Given the description of an element on the screen output the (x, y) to click on. 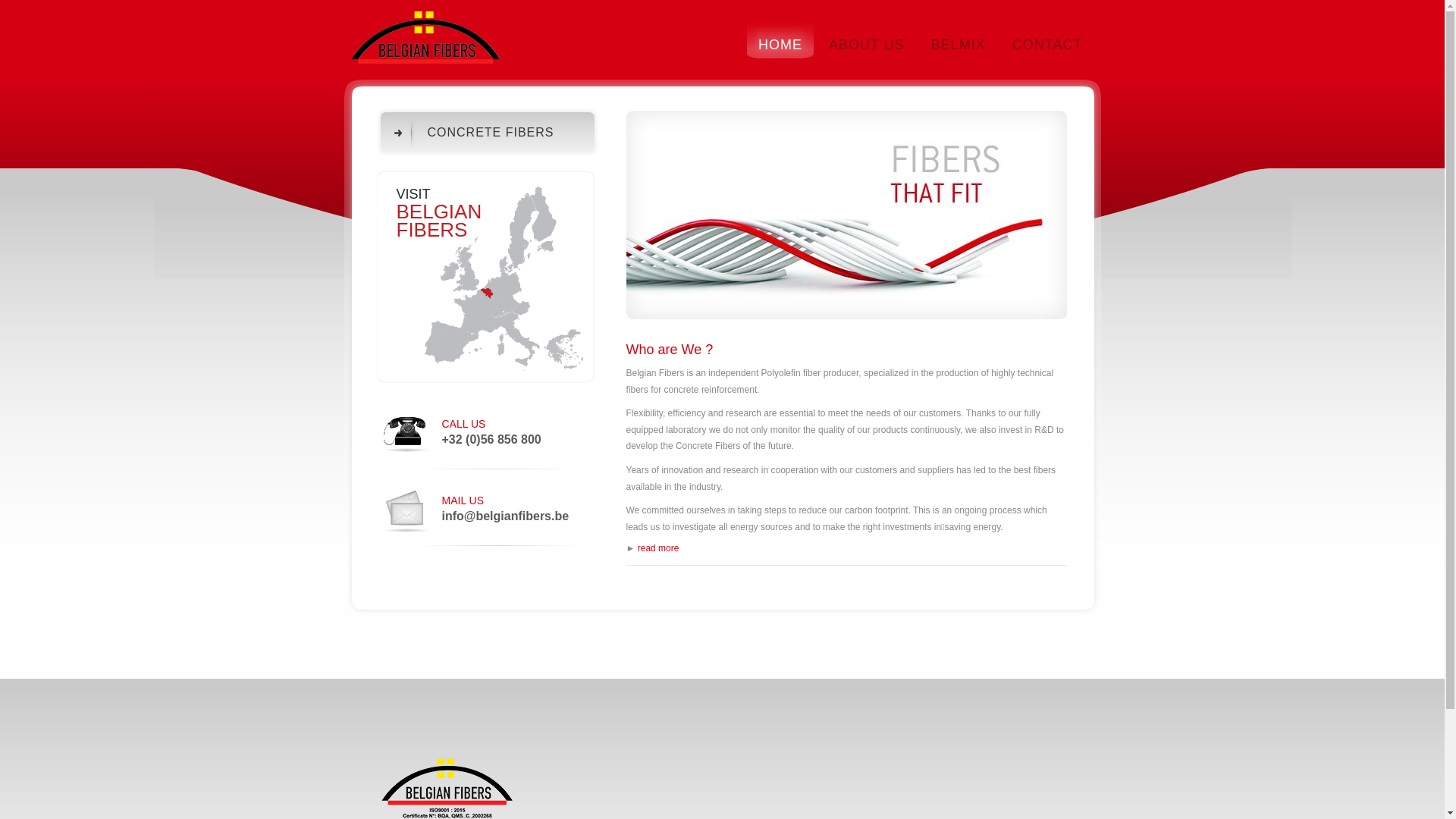
CONTACT Element type: text (1047, 38)
ABOUT US Element type: text (866, 38)
info@belgianfibers.be Element type: text (504, 515)
read more Element type: text (658, 547)
VISIT
BELGIAN
FIBERS Element type: text (486, 276)
Belgian Fibers Element type: text (426, 44)
CONCRETE FIBERS Element type: text (488, 132)
BELMIX Element type: text (958, 38)
HOME Element type: text (779, 38)
